Given the description of an element on the screen output the (x, y) to click on. 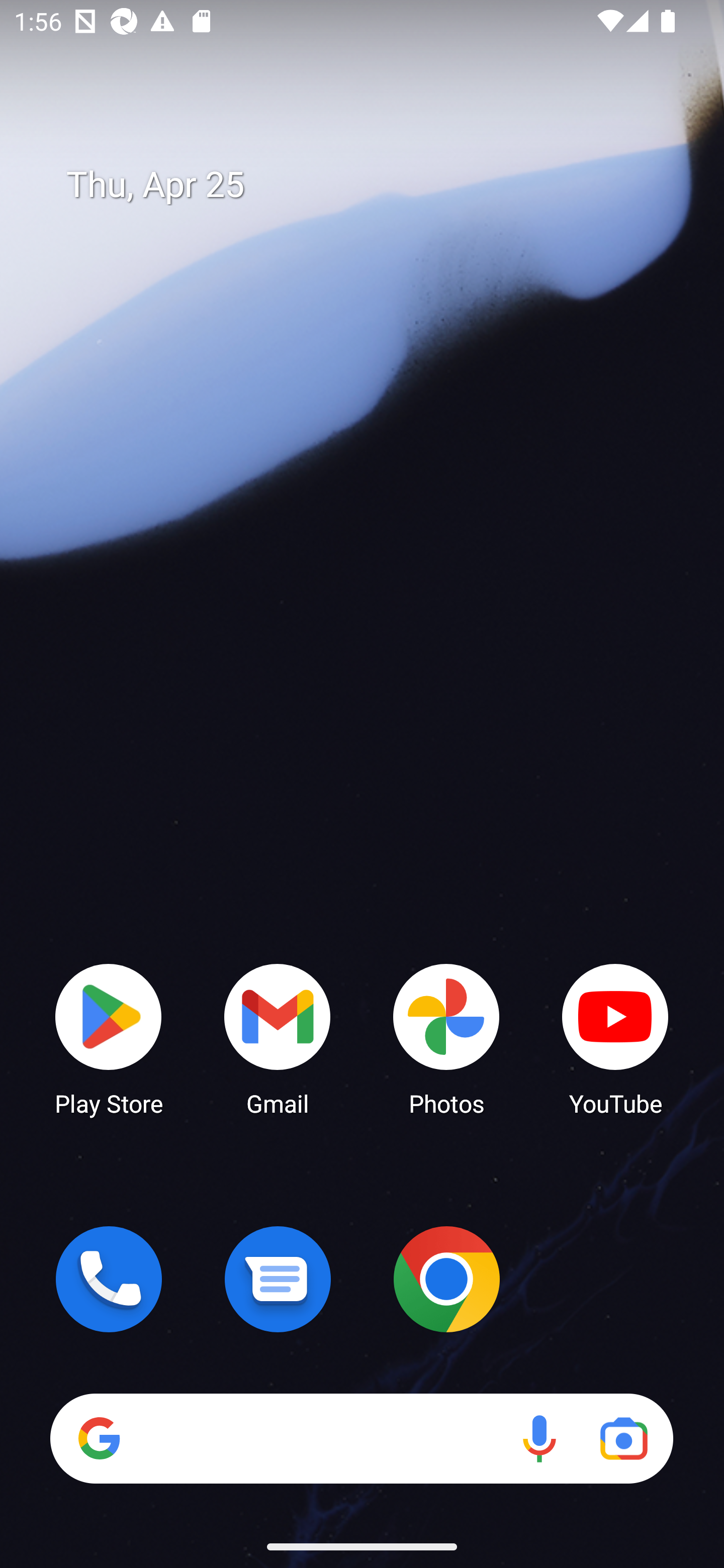
Thu, Apr 25 (375, 184)
Play Store (108, 1038)
Gmail (277, 1038)
Photos (445, 1038)
YouTube (615, 1038)
Phone (108, 1279)
Messages (277, 1279)
Chrome (446, 1279)
Search Voice search Google Lens (361, 1438)
Voice search (539, 1438)
Google Lens (623, 1438)
